Given the description of an element on the screen output the (x, y) to click on. 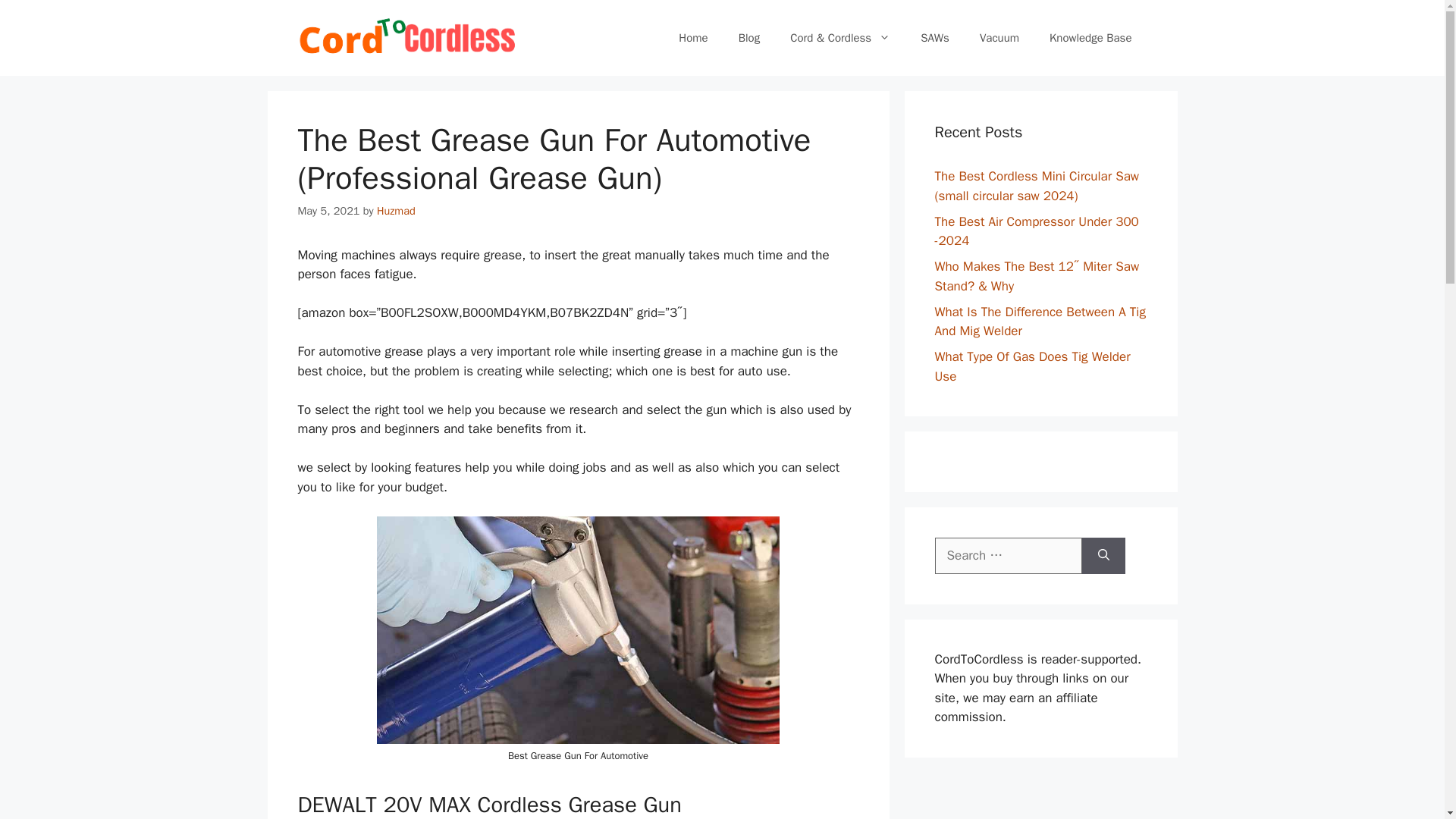
View all posts by Huzmad (395, 210)
Blog (748, 37)
Vacuum (998, 37)
What Type Of Gas Does Tig Welder Use (1031, 366)
CordToCordless (406, 37)
Huzmad (395, 210)
SAWs (934, 37)
What Is The Difference Between A Tig And Mig Welder (1039, 321)
CordToCordless (406, 36)
Search for: (1007, 555)
